Given the description of an element on the screen output the (x, y) to click on. 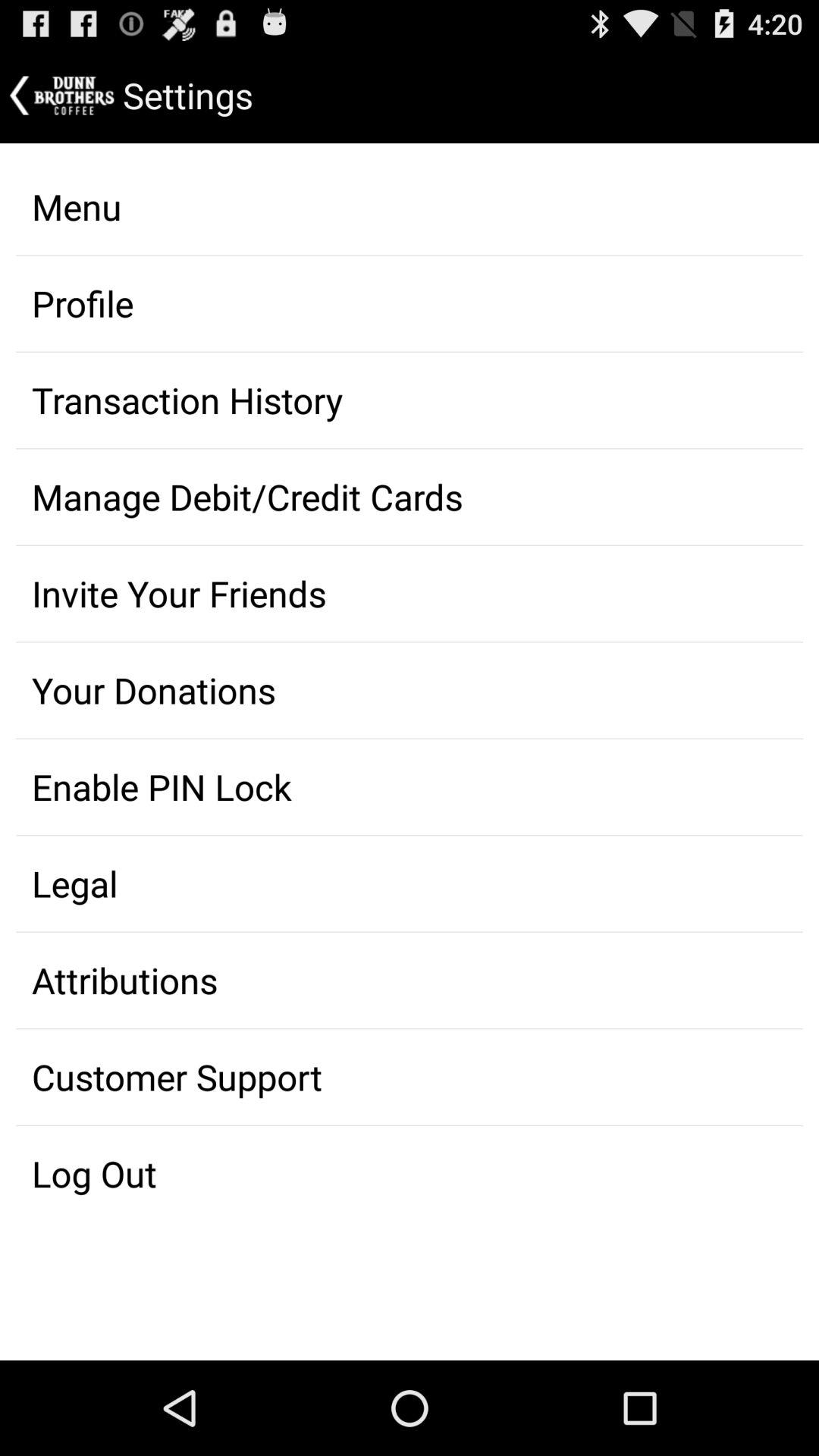
press transaction history (409, 400)
